Given the description of an element on the screen output the (x, y) to click on. 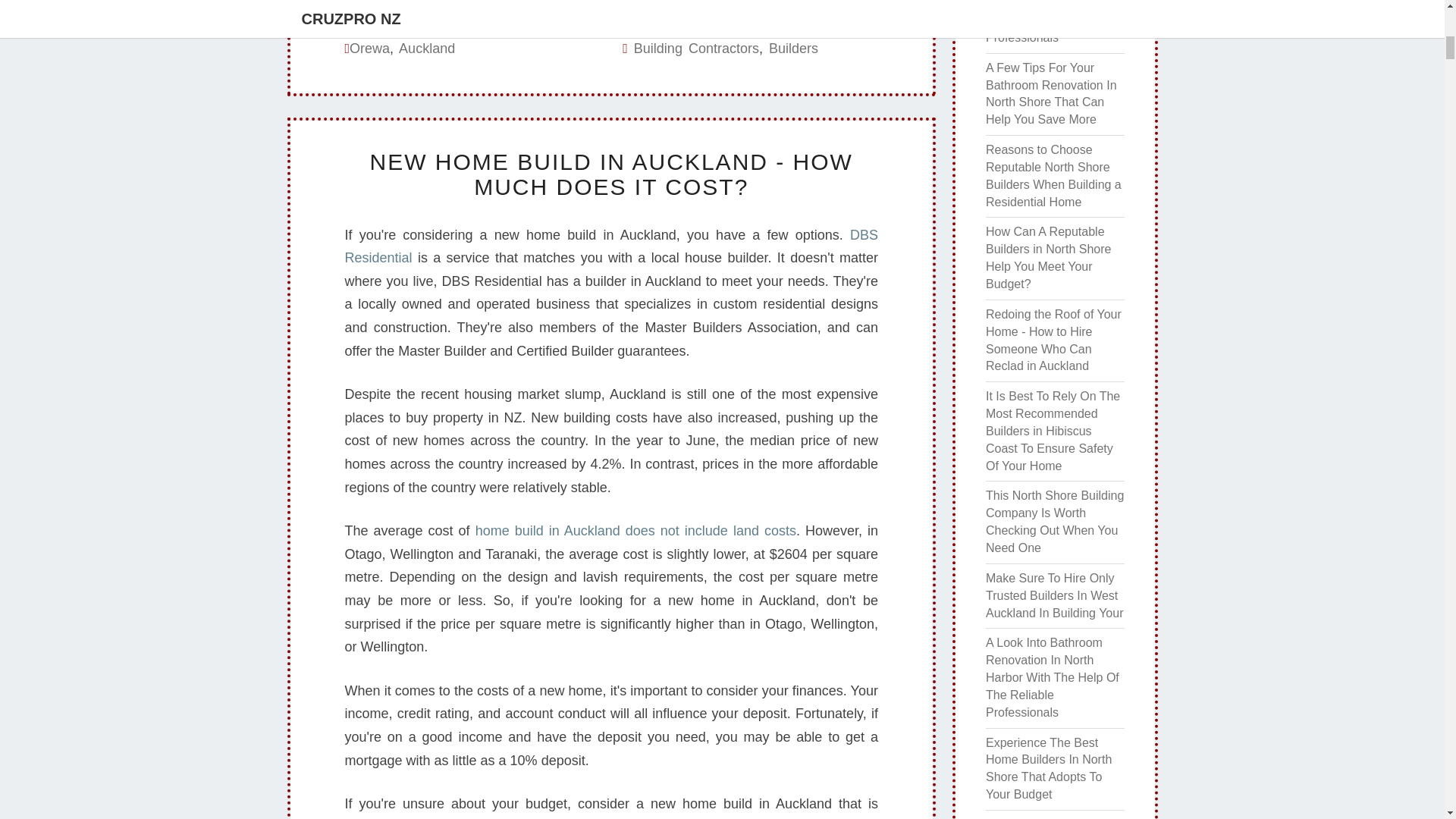
NEW HOME BUILD IN AUCKLAND - HOW MUCH DOES IT COST? (611, 174)
home build in Auckland does not include land costs (636, 530)
Auckland (426, 48)
Orewa (369, 48)
Builders (793, 48)
DBS Residential (610, 246)
Building Contractors (695, 48)
